Given the description of an element on the screen output the (x, y) to click on. 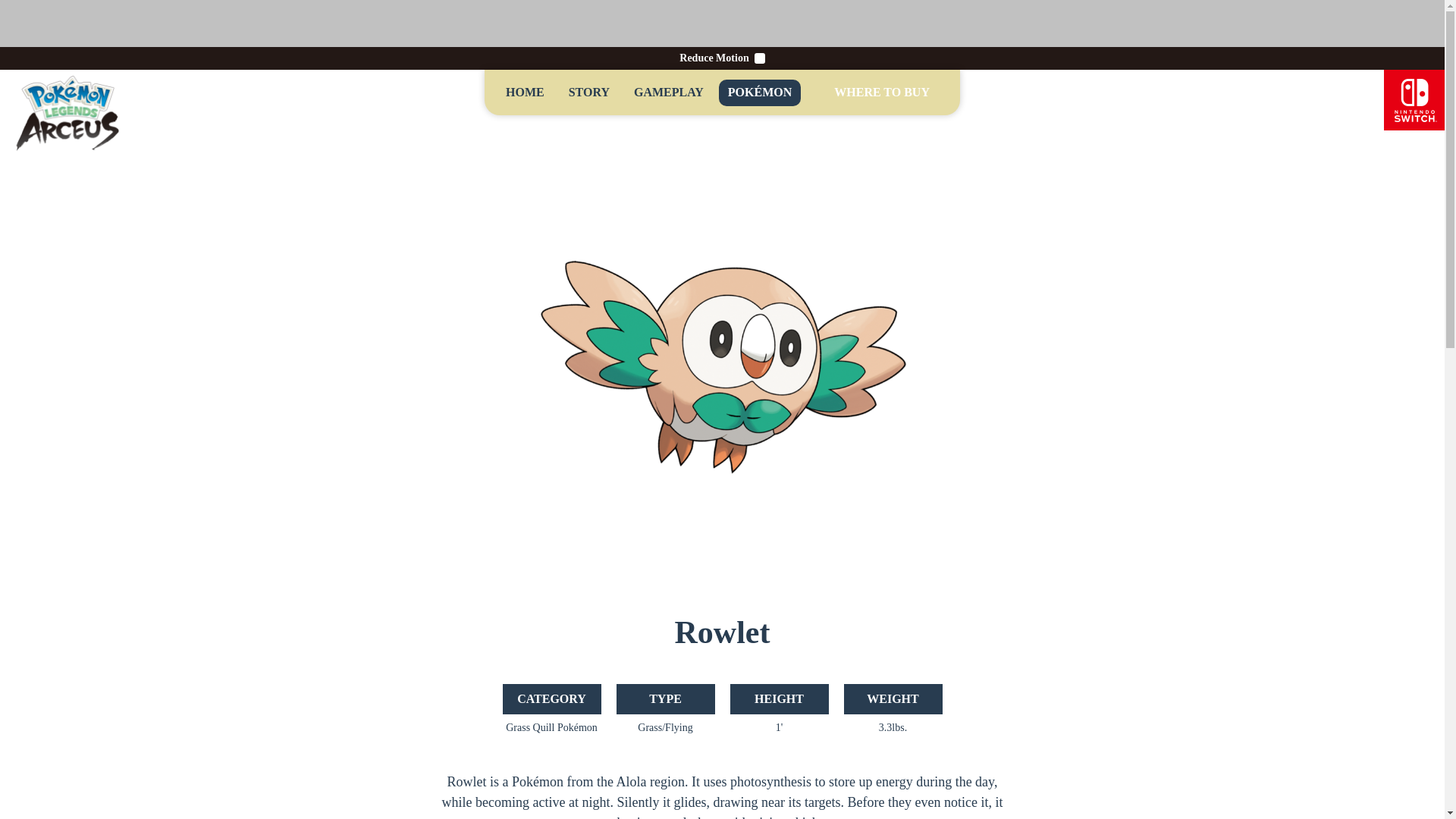
on (759, 58)
HOME (524, 92)
GAMEPLAY (668, 92)
WHERE TO BUY (882, 92)
STORY (588, 92)
